Given the description of an element on the screen output the (x, y) to click on. 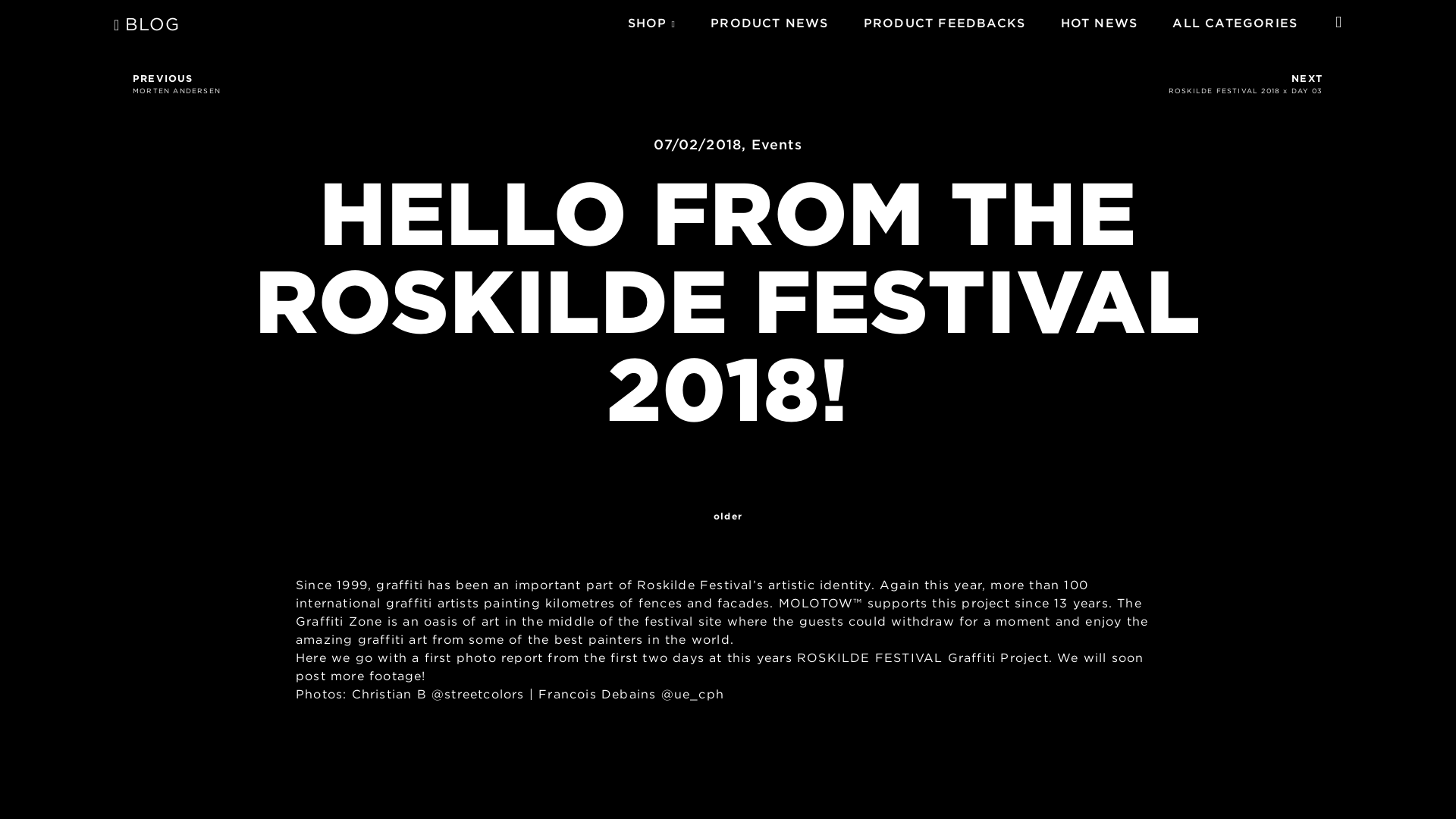
SHOP (646, 22)
PRODUCT FEEDBACKS (944, 22)
older (727, 515)
Events (776, 144)
Opens internal link in current window (424, 83)
HOT NEWS (920, 657)
BLOG (1098, 22)
PRODUCT NEWS (146, 25)
ALL CATEGORIES (769, 22)
